Given the description of an element on the screen output the (x, y) to click on. 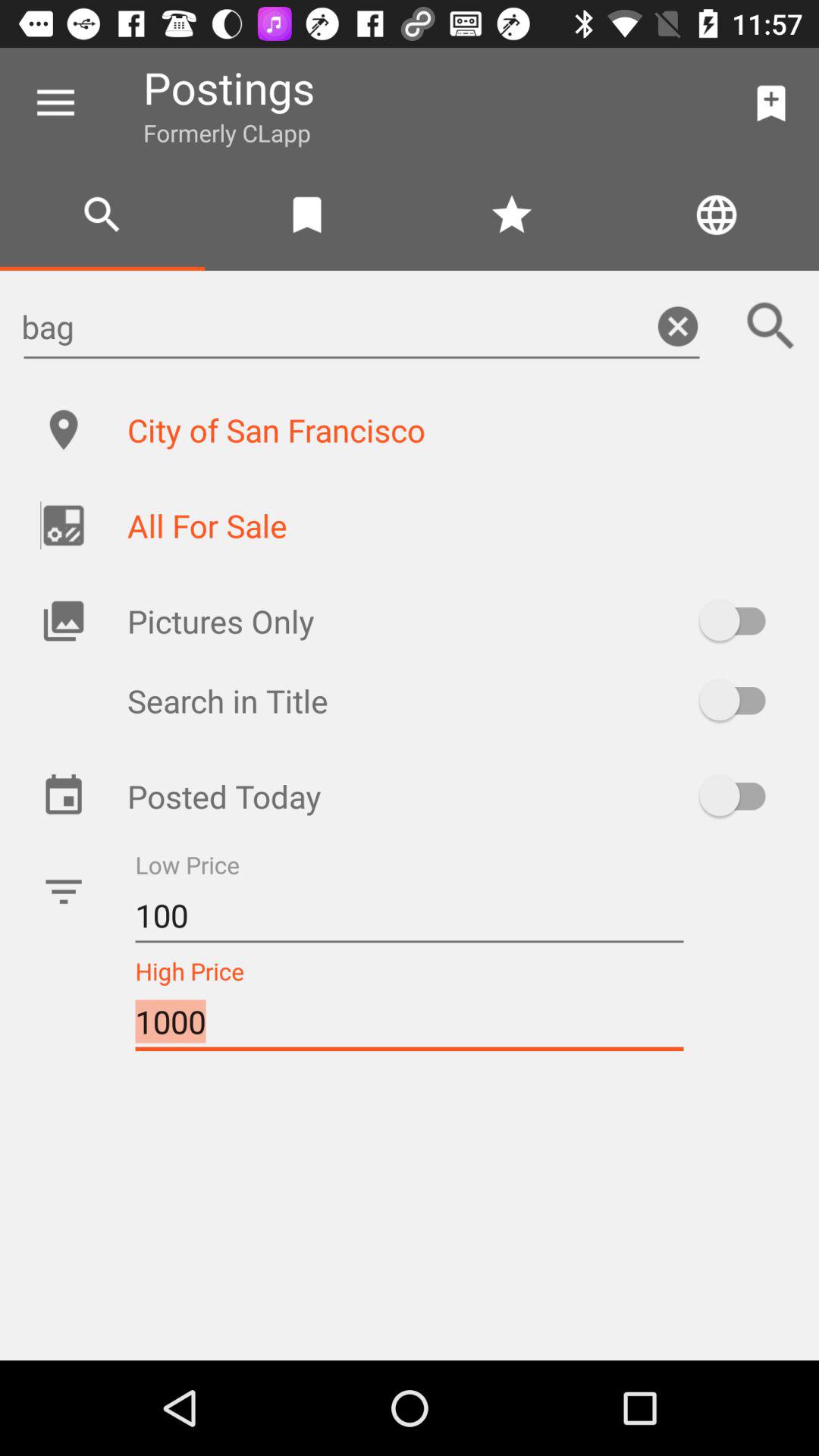
swipe to the 100 (409, 915)
